Given the description of an element on the screen output the (x, y) to click on. 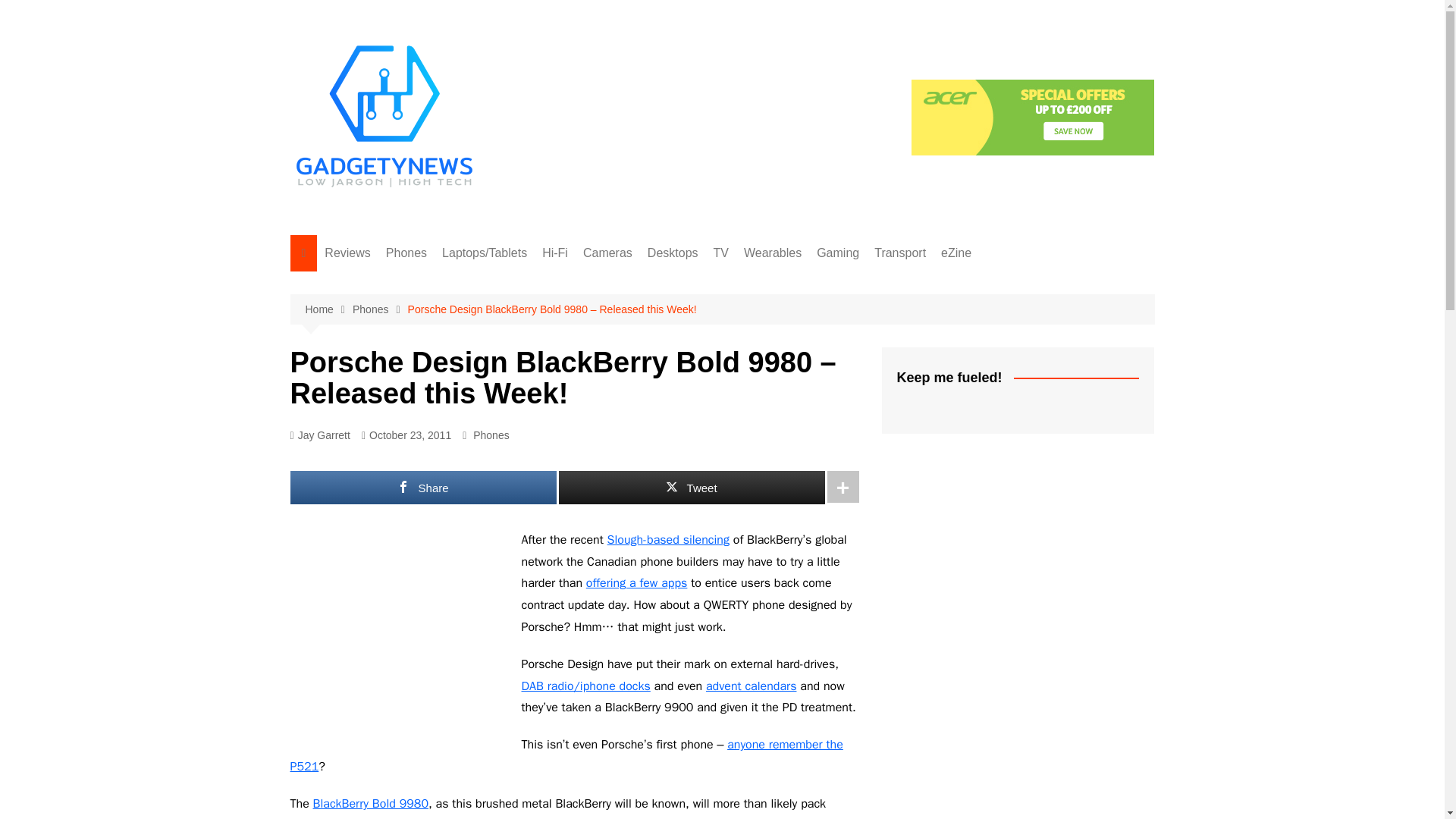
Transport (899, 253)
advent calendars (751, 685)
Tweet (690, 487)
Slough-based silencing (668, 539)
Gaming (837, 253)
Home (328, 309)
Phones (490, 434)
Jay Garrett (319, 435)
Reviews (347, 253)
Phones (405, 253)
